Given the description of an element on the screen output the (x, y) to click on. 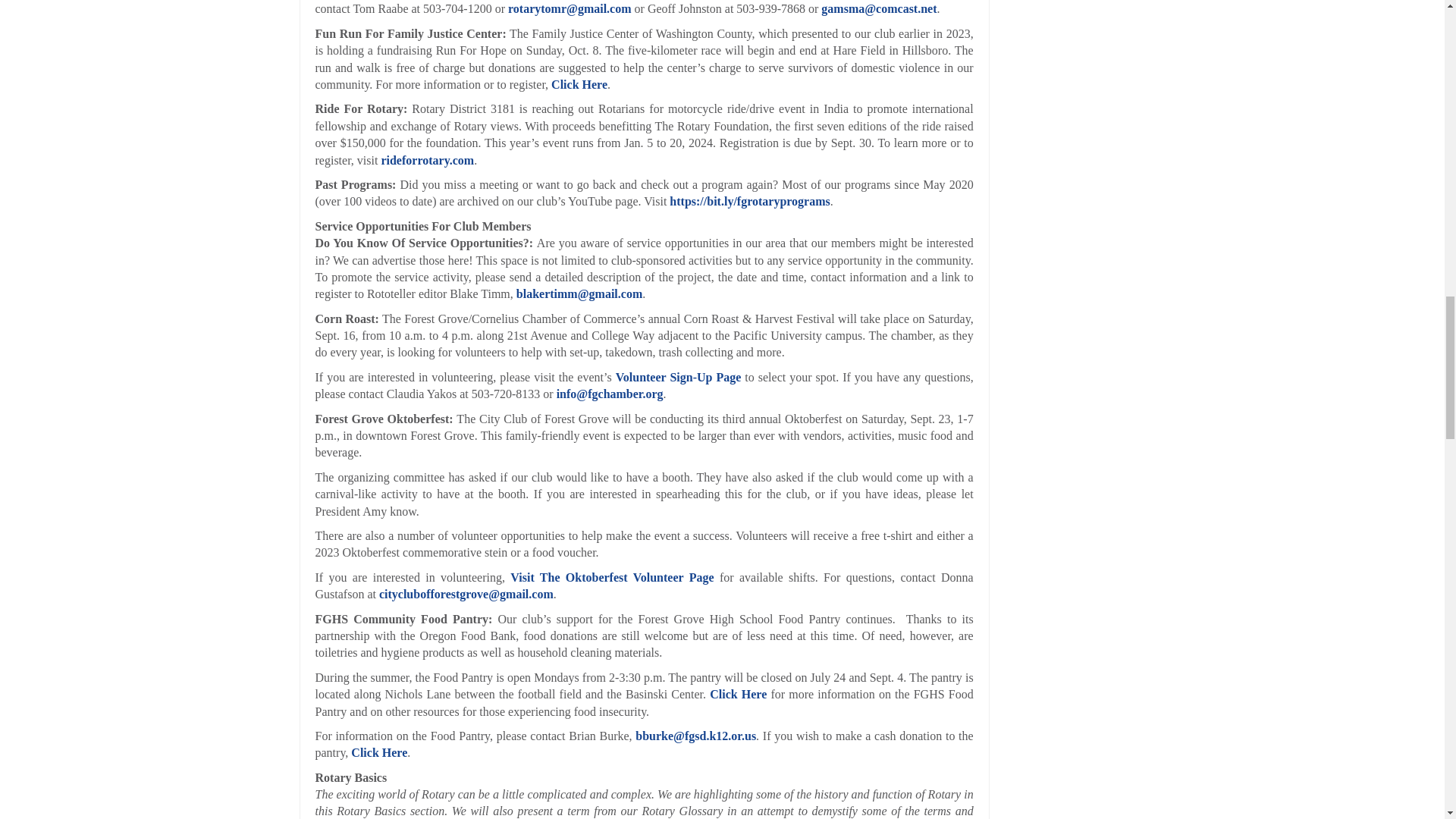
Click Here (579, 83)
rideforrotary.com (427, 160)
